Given the description of an element on the screen output the (x, y) to click on. 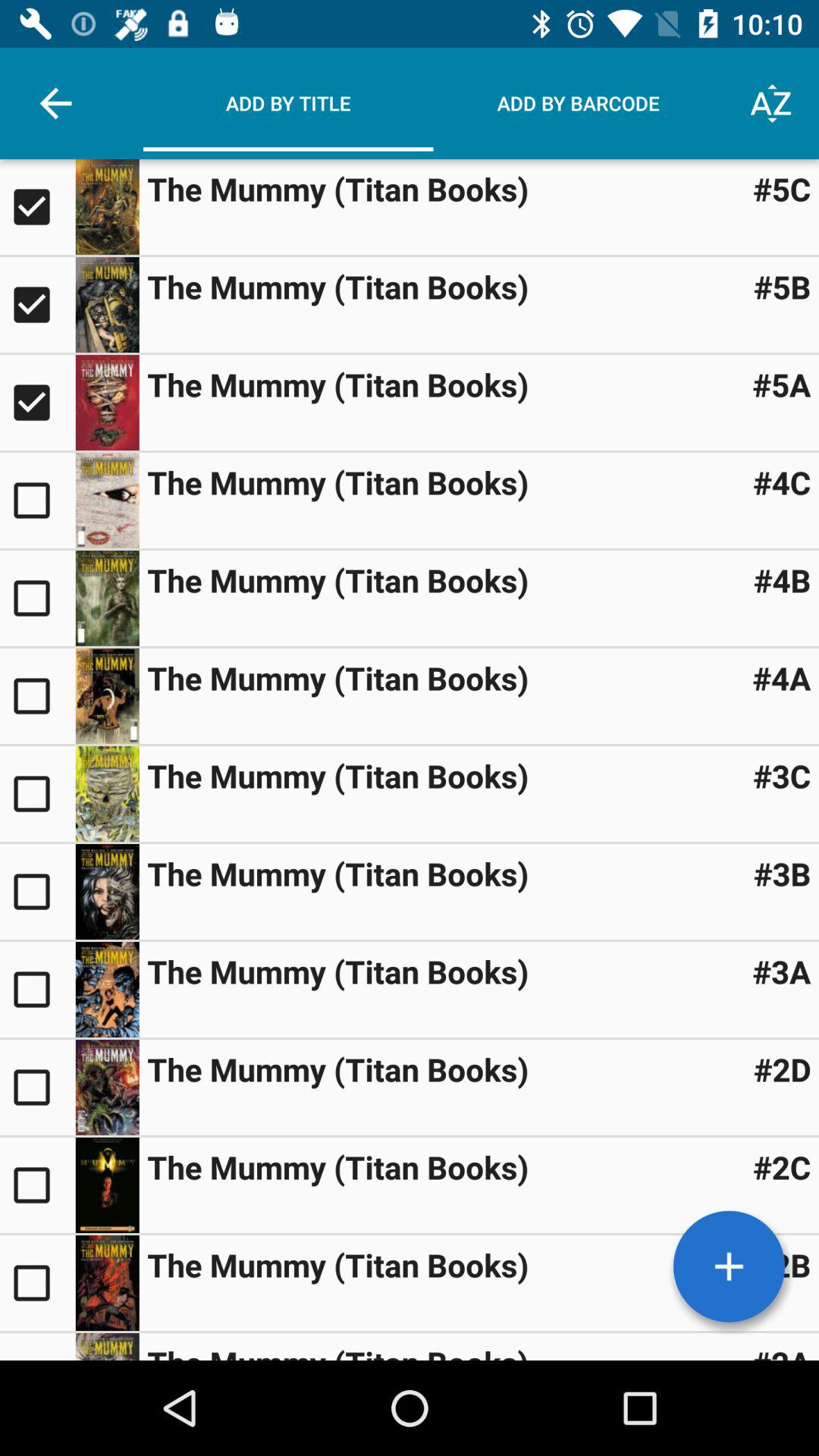
uncheck second thumbnail (37, 304)
